Given the description of an element on the screen output the (x, y) to click on. 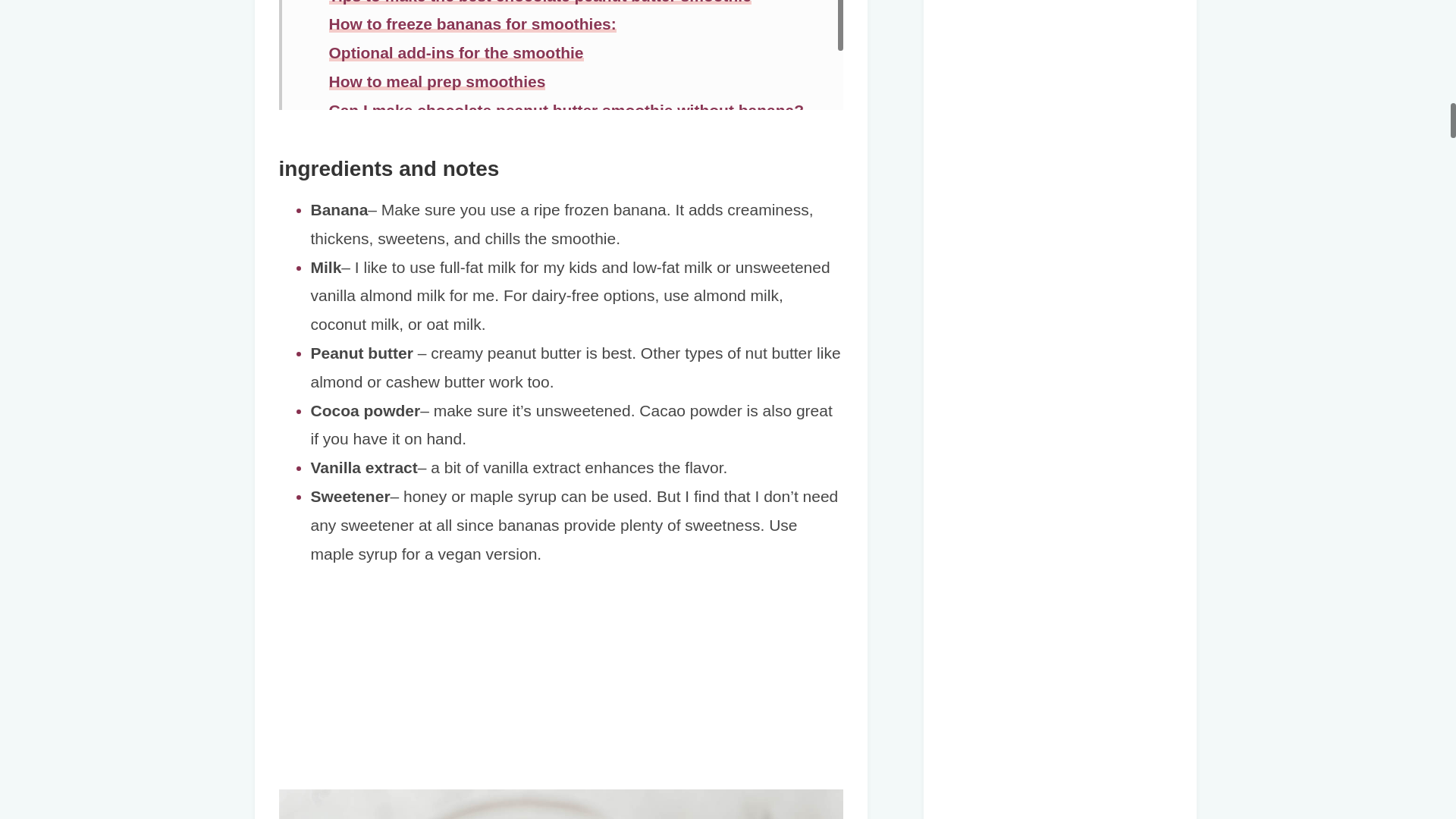
More smoothie recipes (415, 139)
Tips to make the best chocolate peanut butter smoothie (540, 2)
How to freeze bananas for smoothies: (472, 23)
Can I make chocolate peanut butter smoothie without banana? (567, 109)
Recipe (355, 167)
How to meal prep smoothies (437, 81)
Optional add-ins for the smoothie (456, 52)
